Given the description of an element on the screen output the (x, y) to click on. 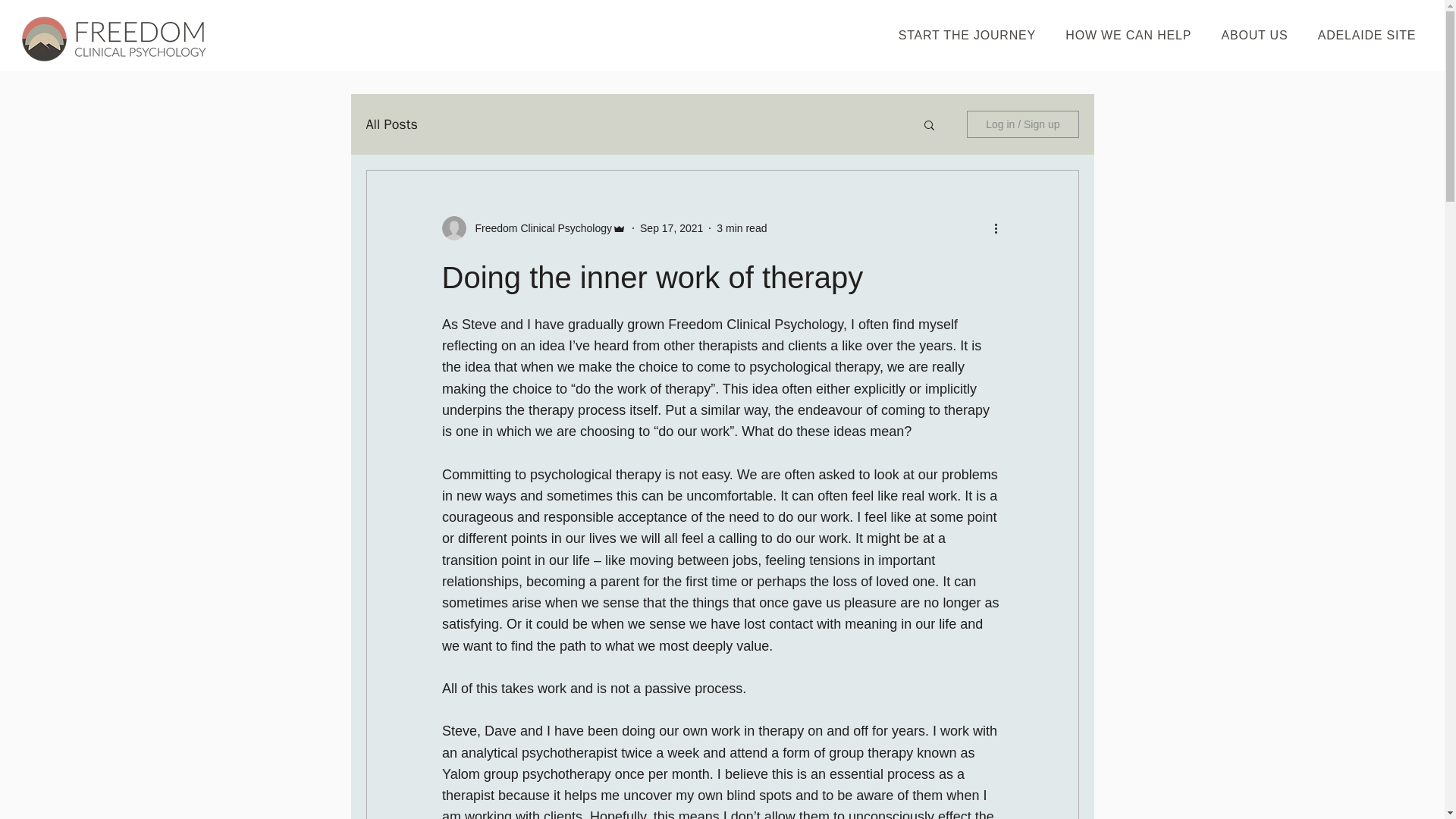
3 min read (741, 227)
FCP Logo 1.png (114, 38)
ADELAIDE SITE (1367, 35)
All Posts (390, 124)
HOW WE CAN HELP (1129, 35)
START THE JOURNEY (967, 35)
Freedom Clinical Psychology (538, 227)
ABOUT US (1255, 35)
Sep 17, 2021 (671, 227)
